Given the description of an element on the screen output the (x, y) to click on. 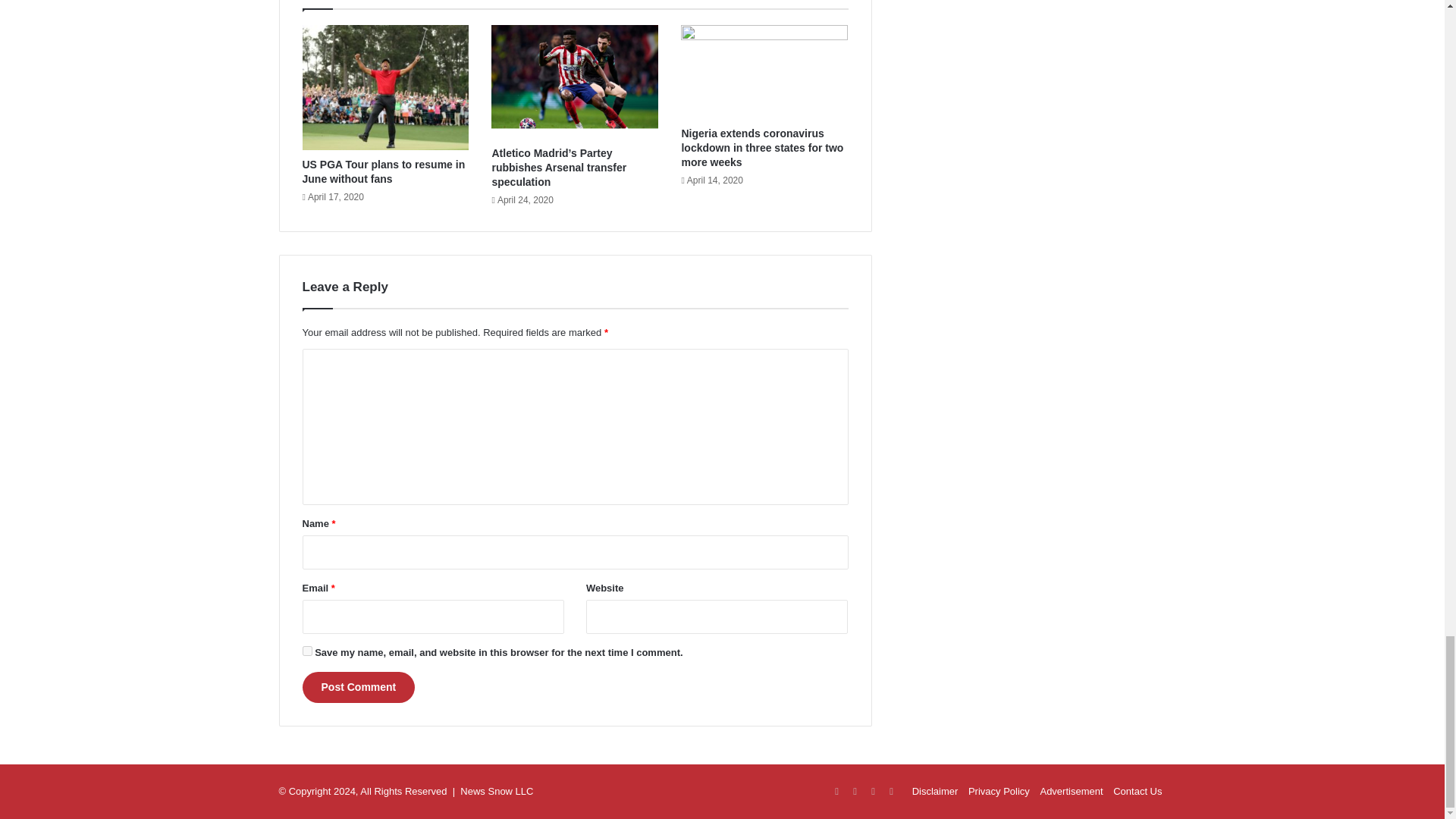
yes (306, 651)
US PGA Tour plans to resume in June without fans (382, 171)
Post Comment (357, 686)
